Given the description of an element on the screen output the (x, y) to click on. 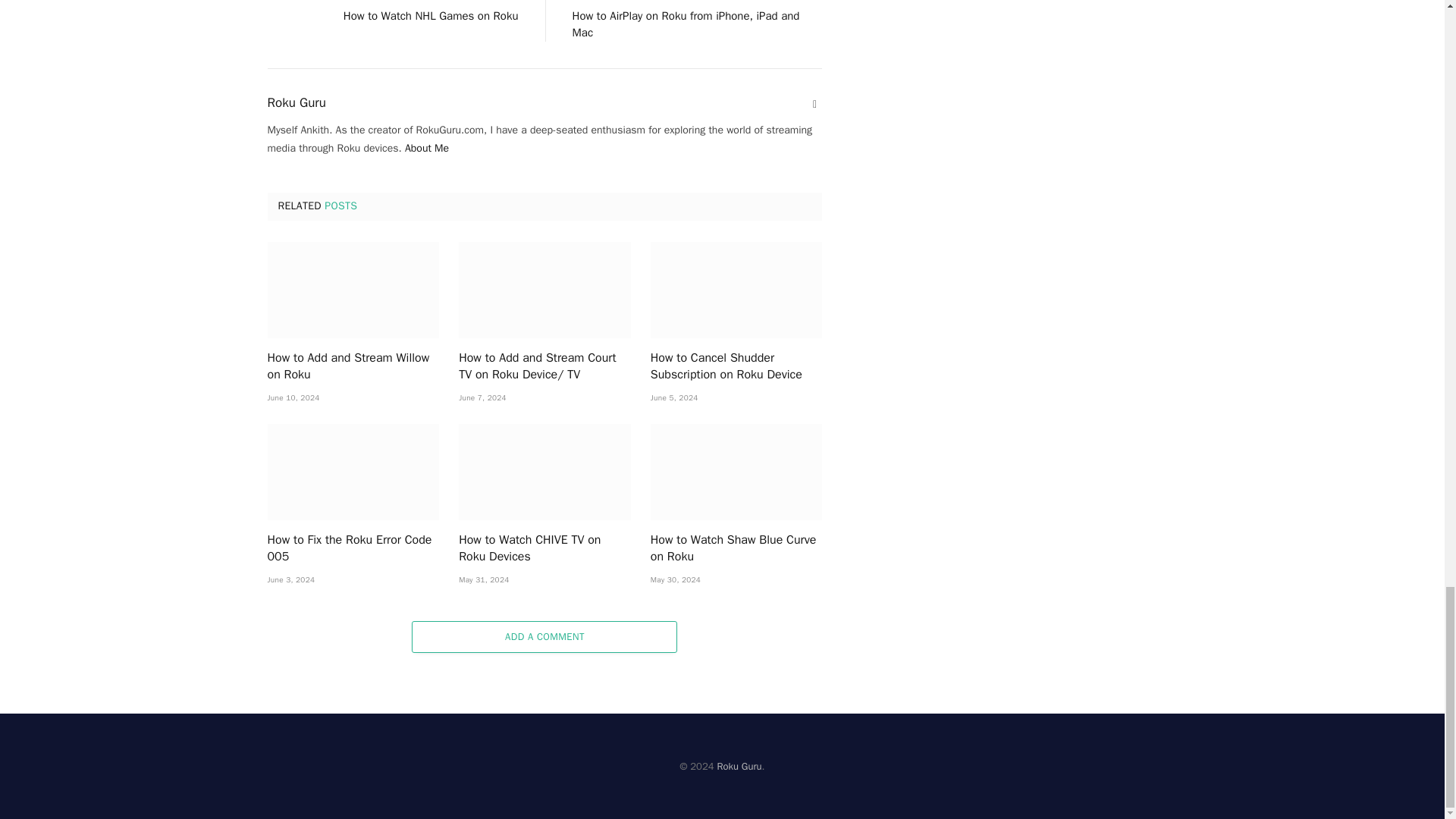
How to Add and Stream Willow on Roku (352, 289)
Posts by Roku Guru (295, 102)
Website (814, 104)
